Given the description of an element on the screen output the (x, y) to click on. 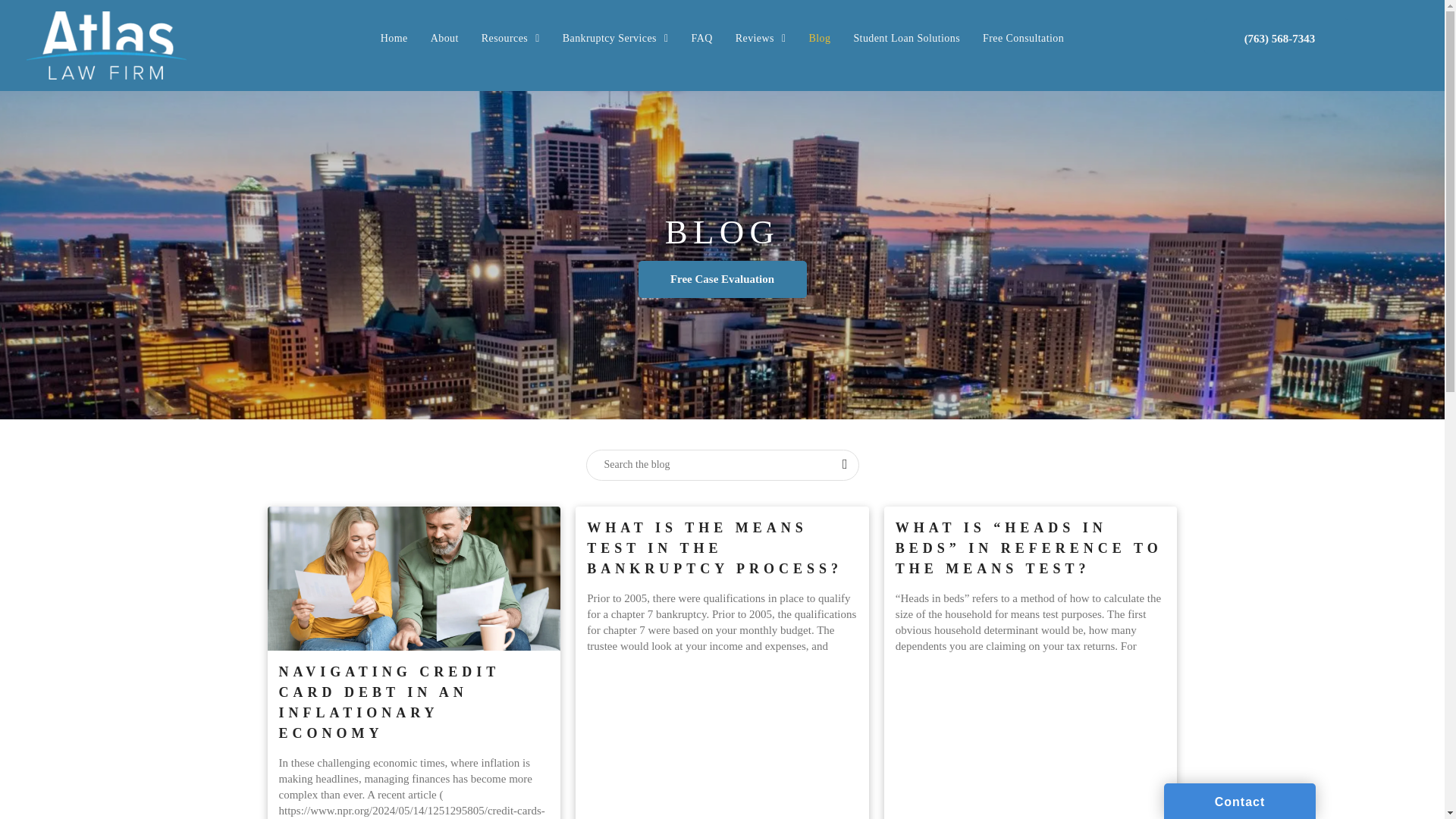
Resources (510, 38)
Free Consultation (1023, 38)
Bankruptcy Services (615, 38)
FAQ (701, 38)
Free Case Evaluation (722, 279)
Reviews (760, 38)
Home (394, 38)
Blog (818, 38)
About (444, 38)
Student Loan Solutions (906, 38)
